Given the description of an element on the screen output the (x, y) to click on. 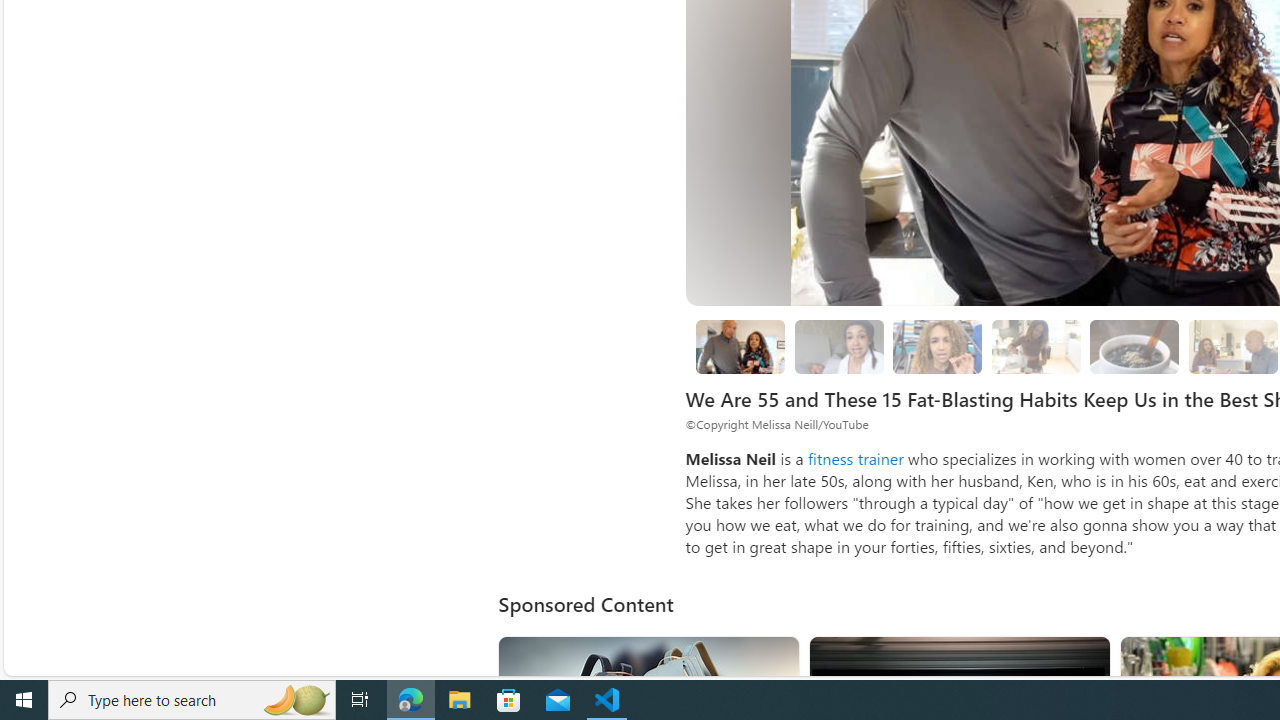
1 We Eat a Protein-Packed Pre-Workout Snack (838, 346)
fitness trainer (855, 457)
3 They Drink Lemon Tea (1035, 346)
8 Be Mindful of Coffee (1135, 346)
3 They Drink Lemon Tea (1035, 346)
Class: progress (1134, 343)
2 They Use Protein Powder for Flavor (938, 346)
8 Be Mindful of Coffee (1134, 346)
5 She Eats Less Than Her Husband (1232, 346)
1 We Eat a Protein-Packed Pre-Workout Snack (838, 346)
2 They Use Protein Powder for Flavor (937, 346)
